Given the description of an element on the screen output the (x, y) to click on. 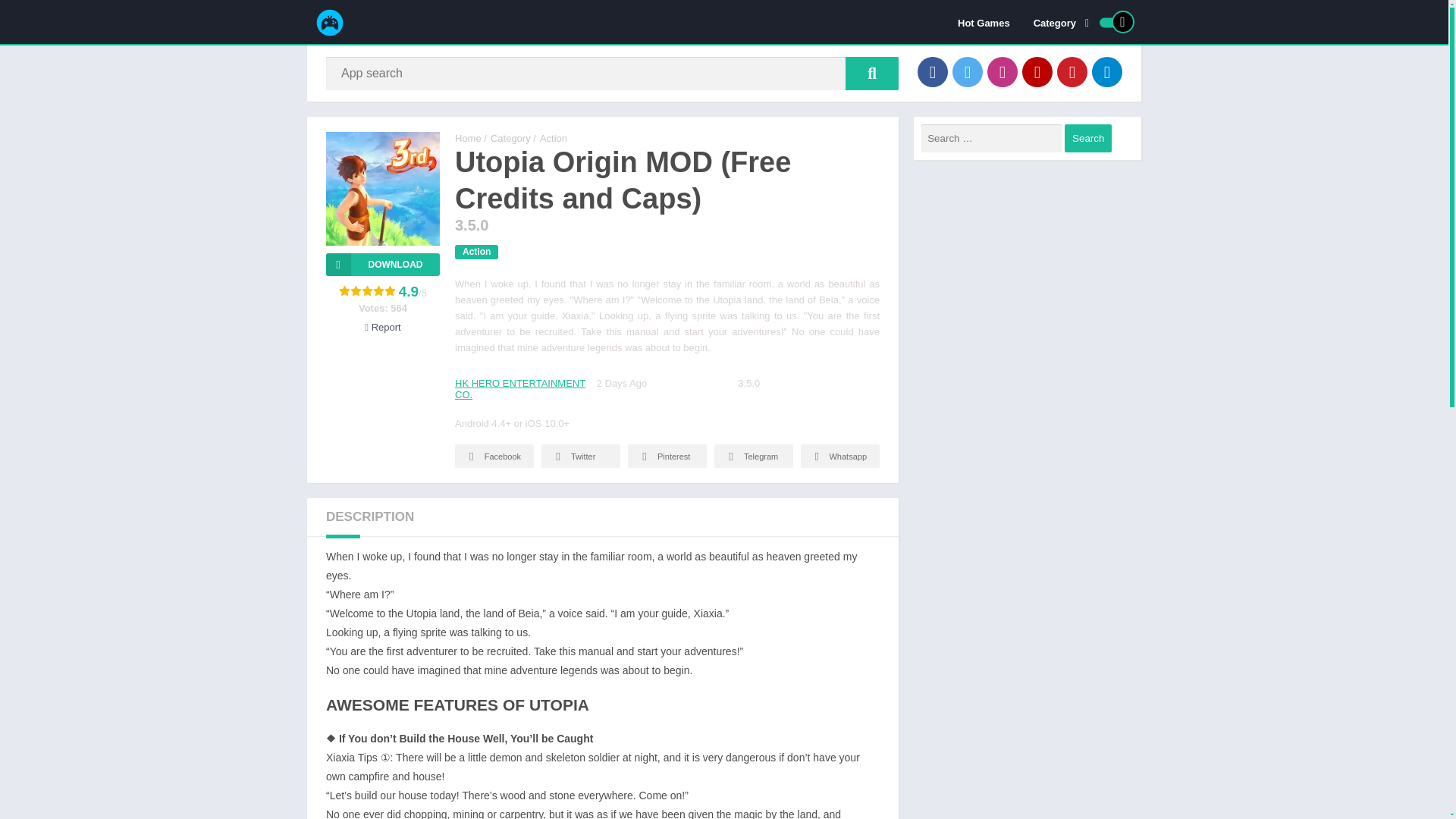
Twitter (967, 71)
App search (871, 73)
Download (382, 264)
DOWNLOAD (382, 264)
HK HERO ENTERTAINMENT CO. (519, 388)
Action (553, 138)
Twitter (580, 455)
Category (1058, 22)
Pinterest (1072, 71)
Whatsapp (839, 455)
Telegram (753, 455)
Facebook (932, 71)
Pinterest (666, 455)
YouTube (1037, 71)
Facebook (494, 455)
